Given the description of an element on the screen output the (x, y) to click on. 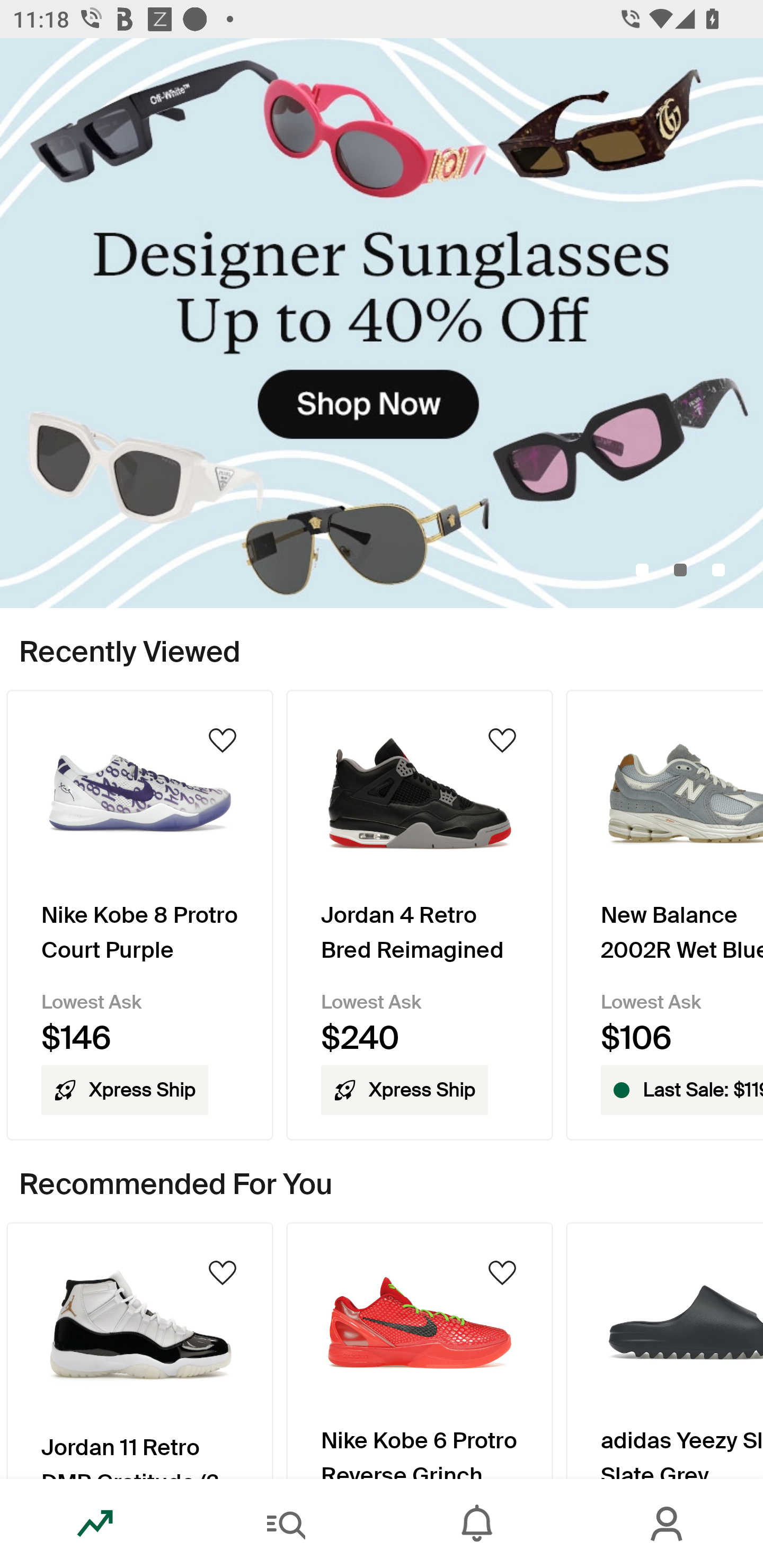
DesignerSunglassesUpto40_Off_Primary_Mobile.jpg (381, 322)
Product Image Jordan 11 Retro DMP Gratitude (2023) (139, 1349)
Product Image Nike Kobe 6 Protro Reverse Grinch (419, 1349)
Product Image adidas Yeezy Slide Slate Grey (664, 1349)
Search (285, 1523)
Inbox (476, 1523)
Account (667, 1523)
